Given the description of an element on the screen output the (x, y) to click on. 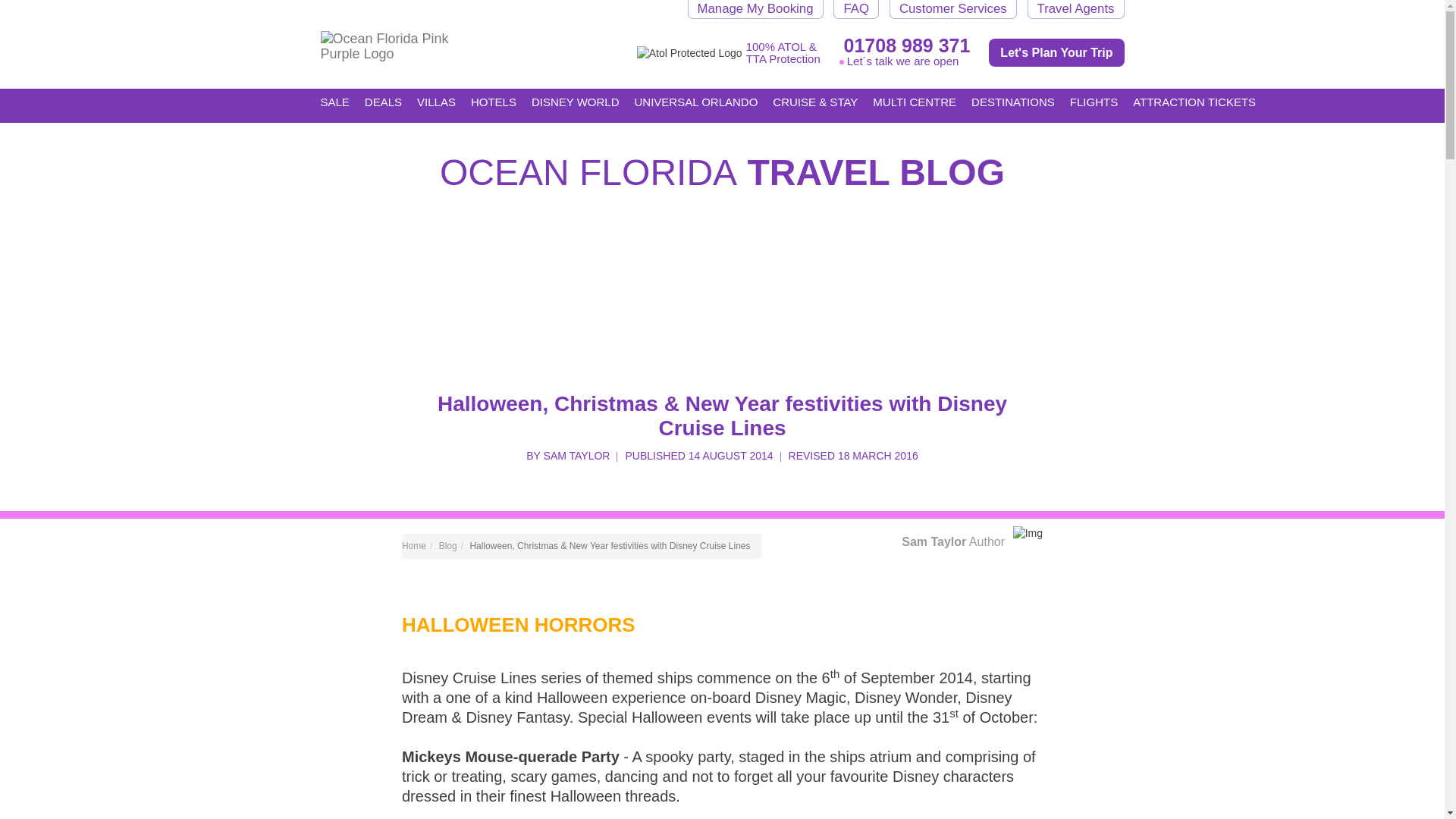
VILLAS (435, 105)
Travel Agents (1075, 9)
SALE (334, 100)
Manage My Booking (755, 9)
DEALS (383, 105)
FAQ (855, 9)
Let's Plan Your Trip (1056, 52)
Customer Services (952, 9)
